Given the description of an element on the screen output the (x, y) to click on. 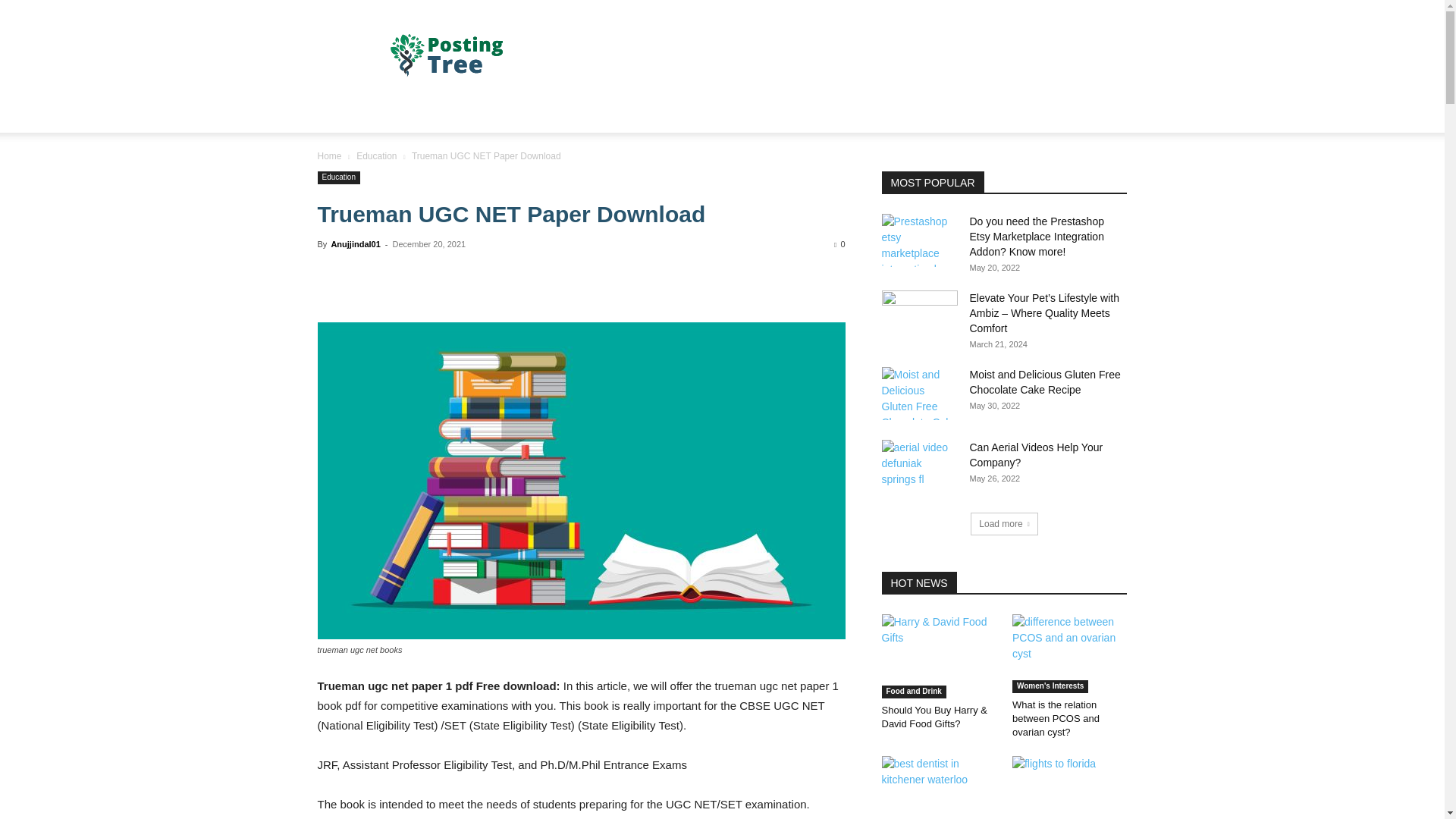
Anujjindal01 (355, 243)
Home (328, 155)
EDUCATION (646, 114)
GUIDELINE (800, 114)
HOME (343, 114)
BUSINESS (407, 114)
0 (839, 243)
Search (1085, 174)
CONTACT (724, 114)
